Given the description of an element on the screen output the (x, y) to click on. 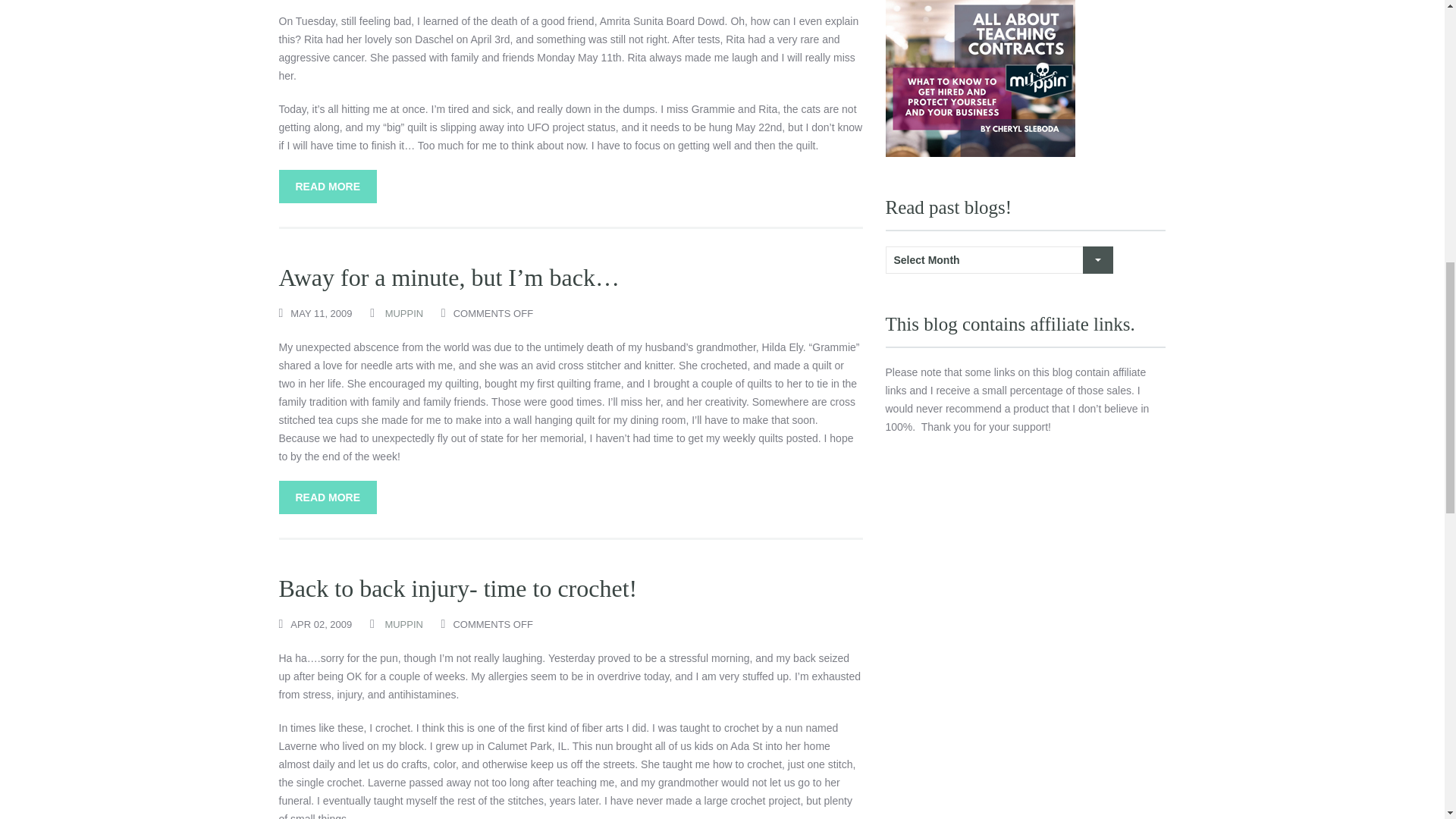
View all posts by Muppin (403, 624)
MUPPIN (404, 313)
Back to back injury- time to crochet! (458, 587)
READ MORE (328, 497)
READ MORE (328, 186)
MUPPIN (403, 624)
View all posts by Muppin (404, 313)
